Given the description of an element on the screen output the (x, y) to click on. 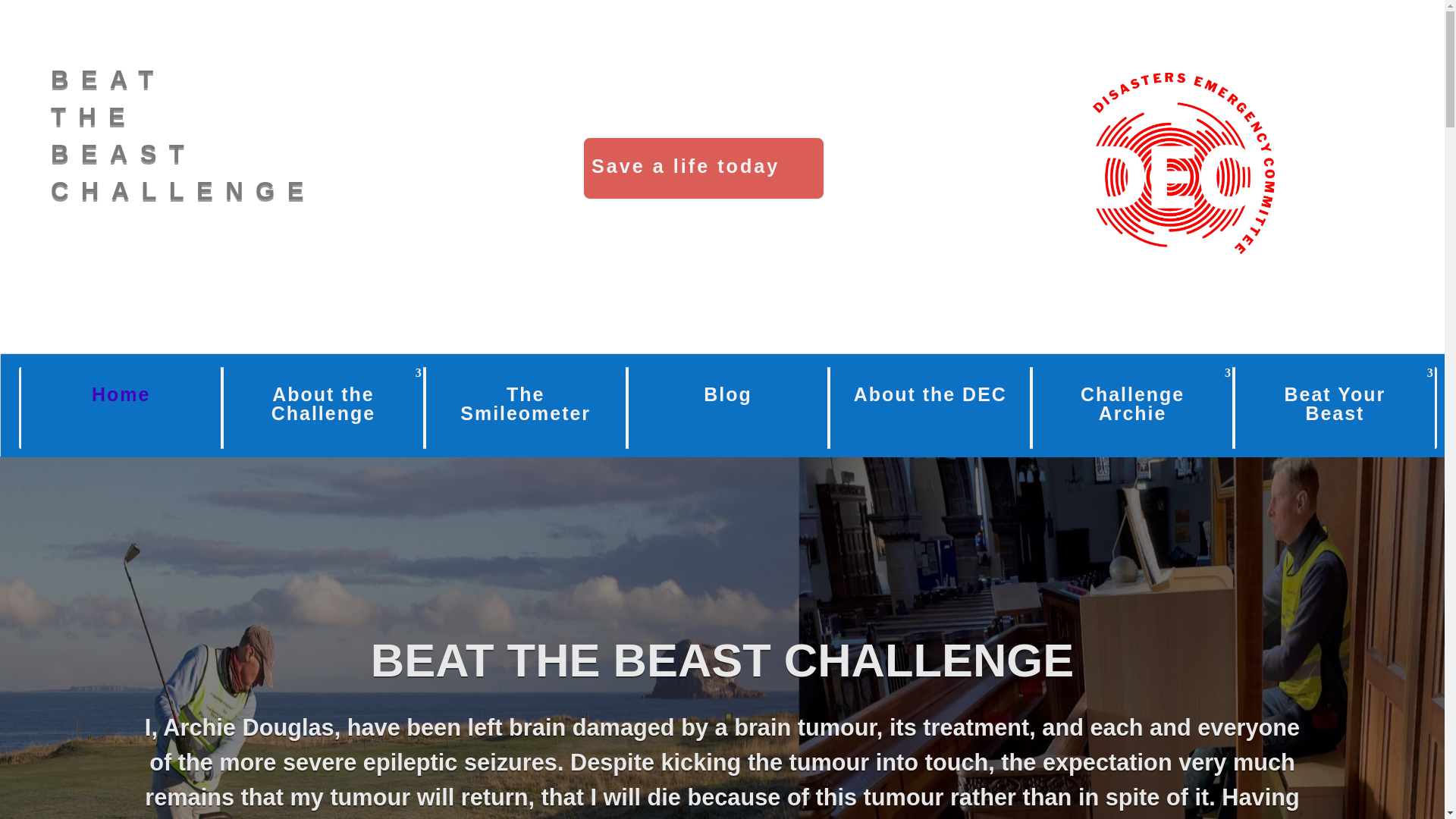
The Smileometer (525, 407)
Challenge Archie (1132, 407)
Beat Your Beast (1335, 407)
About the Challenge (323, 407)
DEC-Logo-small--XJcDMZ (182, 134)
About the DEC (1184, 162)
Blog (930, 407)
Home (727, 407)
